Given the description of an element on the screen output the (x, y) to click on. 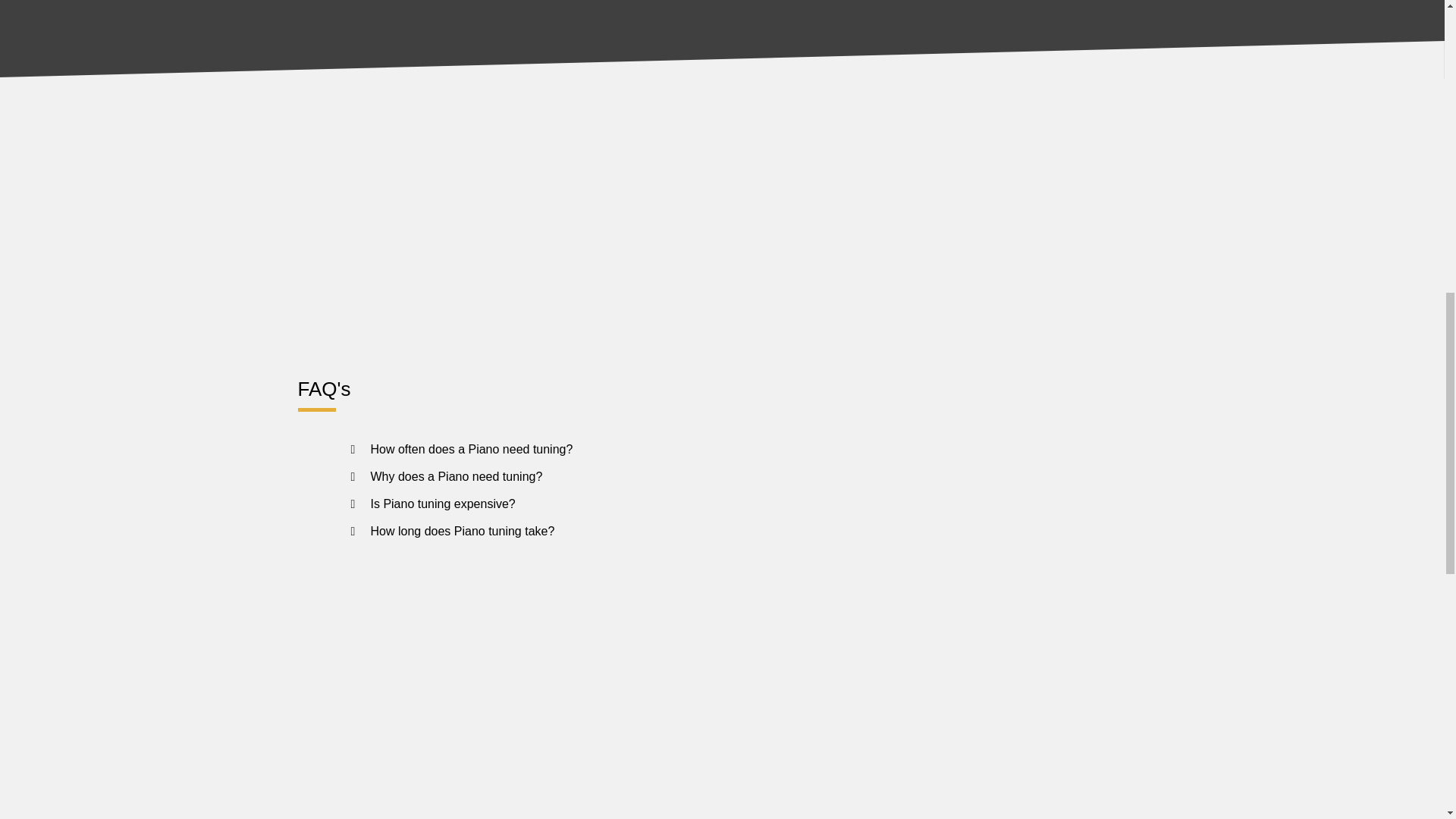
How often does a Piano need tuning? (470, 449)
How long does Piano tuning take? (461, 530)
Why does a Piano need tuning? (455, 476)
Is Piano tuning expensive? (442, 503)
